Given the description of an element on the screen output the (x, y) to click on. 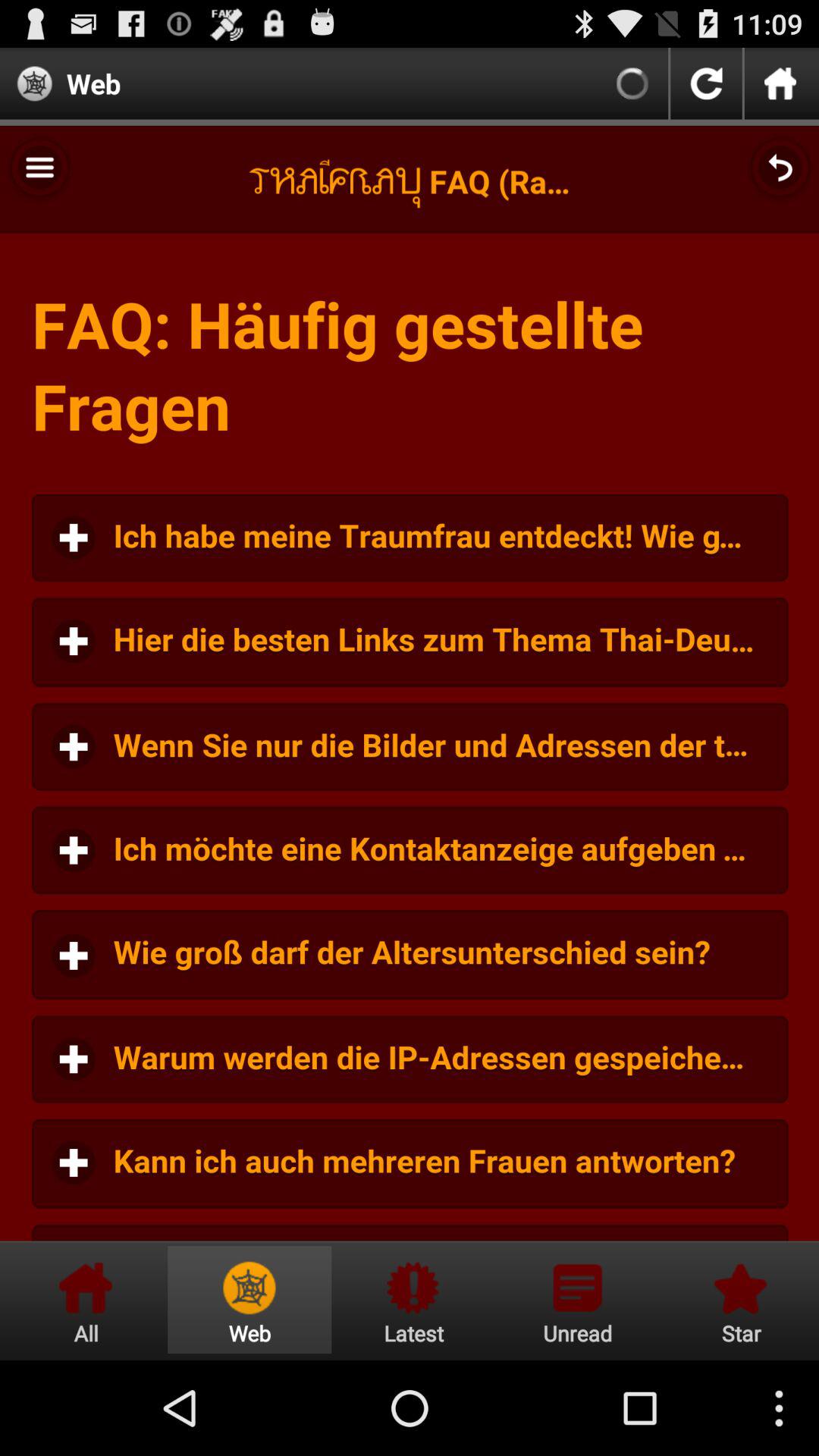
return to home page (85, 1299)
